Given the description of an element on the screen output the (x, y) to click on. 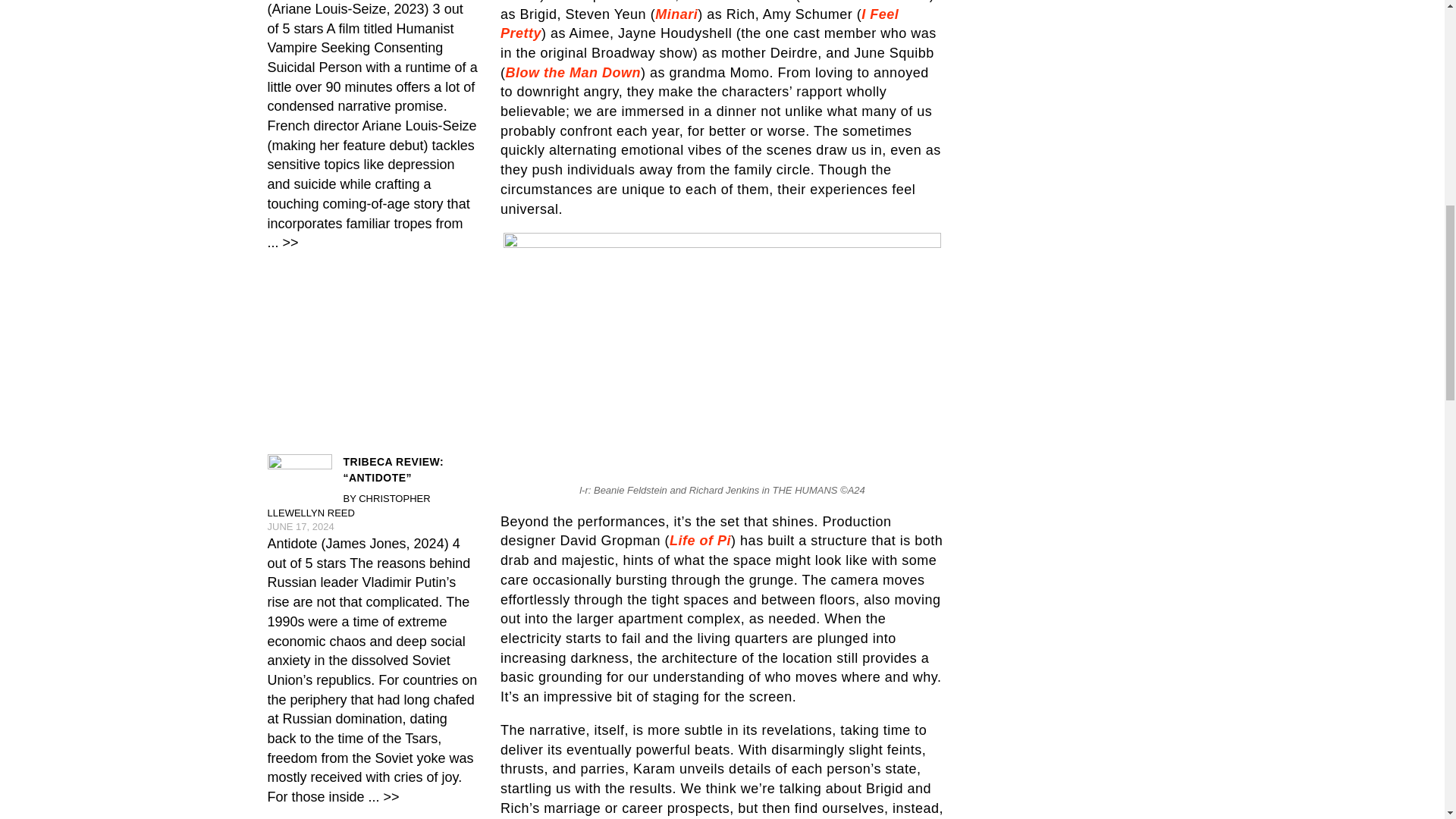
Advertisement (371, 355)
Blow the Man Down (572, 72)
How to Build a Girl (864, 1)
Minari (676, 14)
I Feel Pretty (699, 23)
Advertisement (371, 816)
Life of Pi (699, 540)
